Given the description of an element on the screen output the (x, y) to click on. 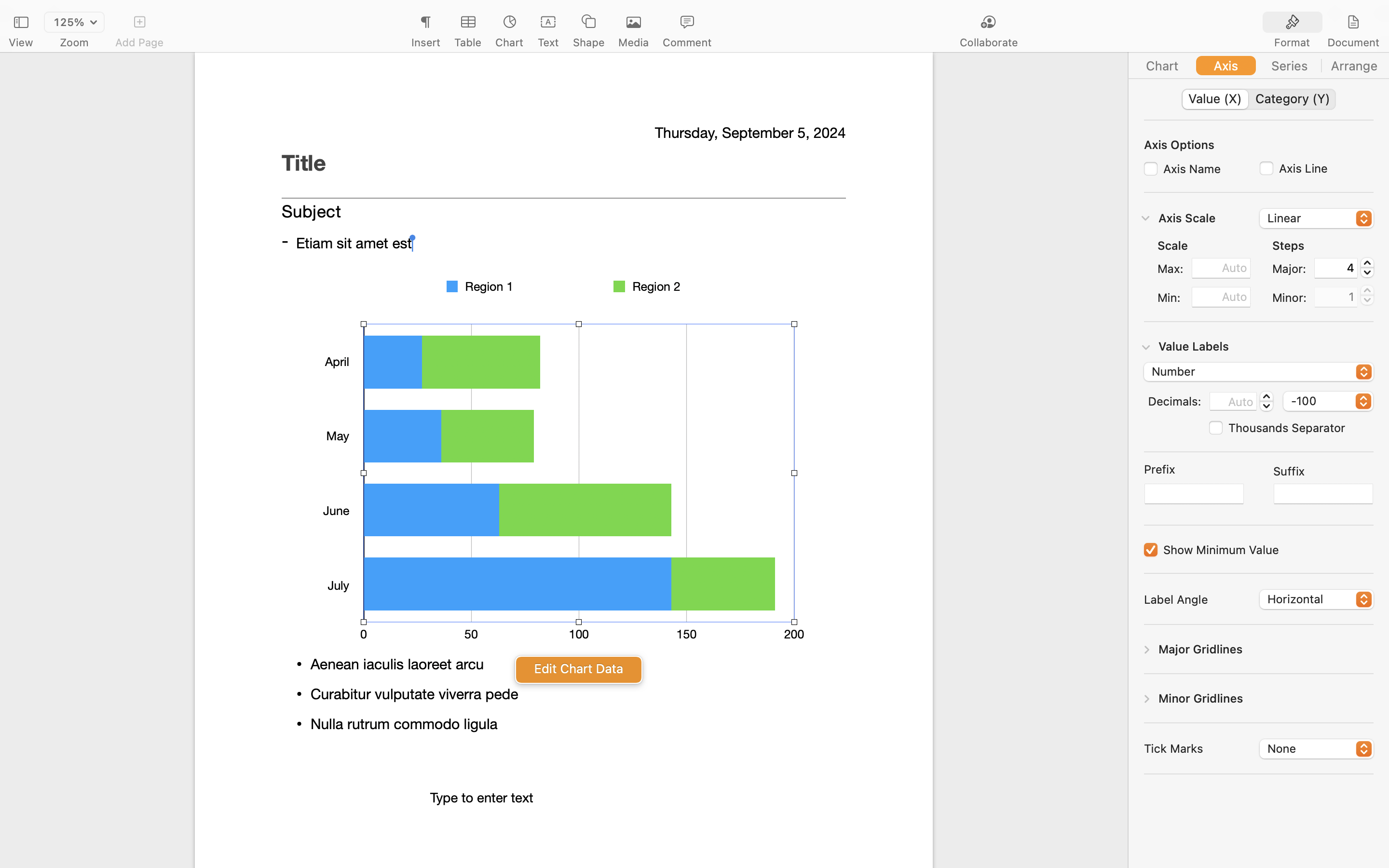
Steps Element type: AXStaticText (1288, 245)
-100 Element type: AXPopUpButton (1328, 402)
Decimals: Element type: AXStaticText (1173, 400)
Major Gridlines Element type: AXStaticText (1200, 648)
